Given the description of an element on the screen output the (x, y) to click on. 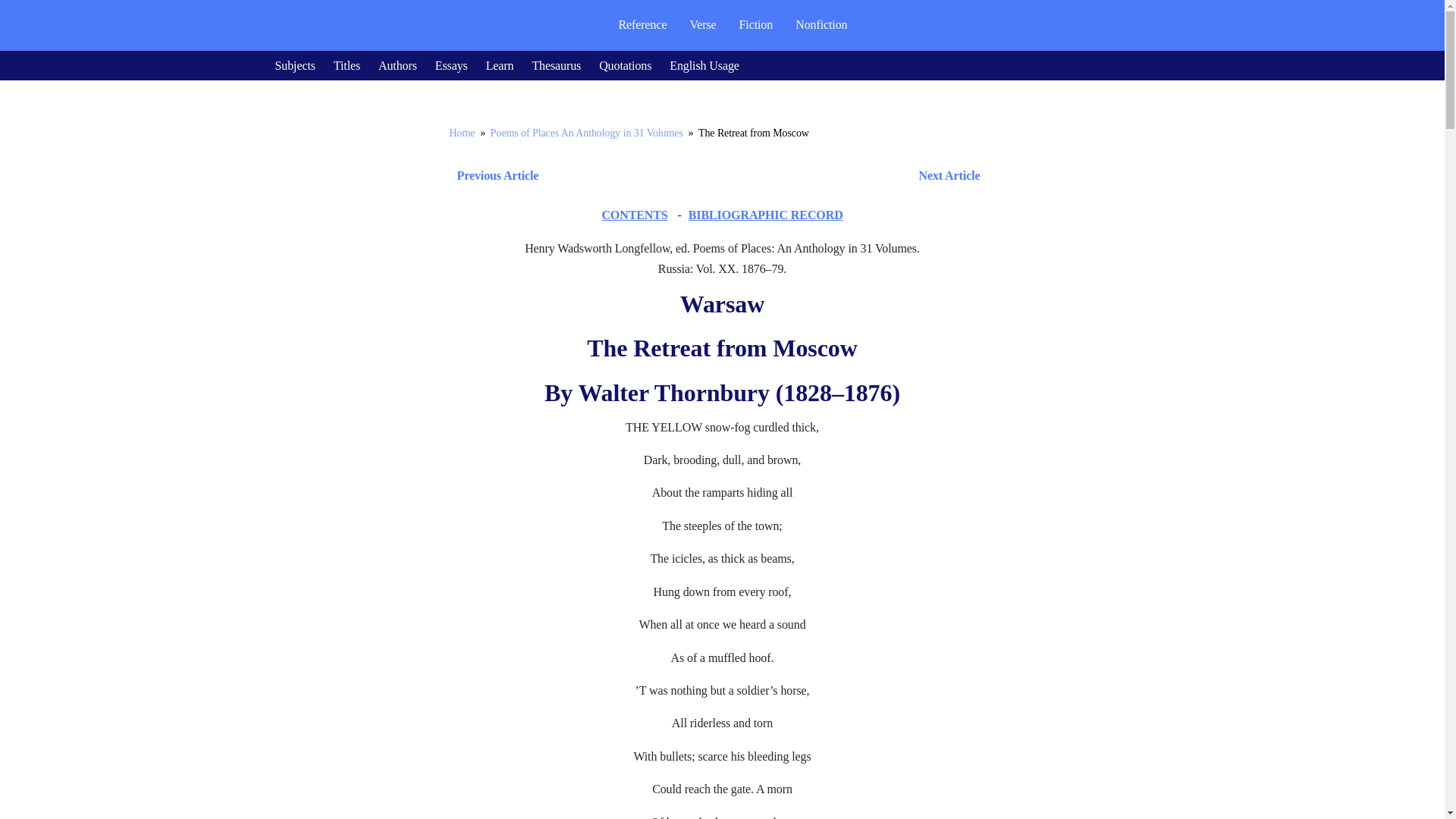
Fiction (756, 24)
Thesaurus (555, 65)
Nonfiction (821, 24)
English Usage (704, 65)
CONTENTS (633, 214)
Reference (642, 24)
Previous Article (493, 175)
Poems of Places An Anthology in 31 Volumes (586, 132)
Essays (451, 65)
Quotations (624, 65)
